Given the description of an element on the screen output the (x, y) to click on. 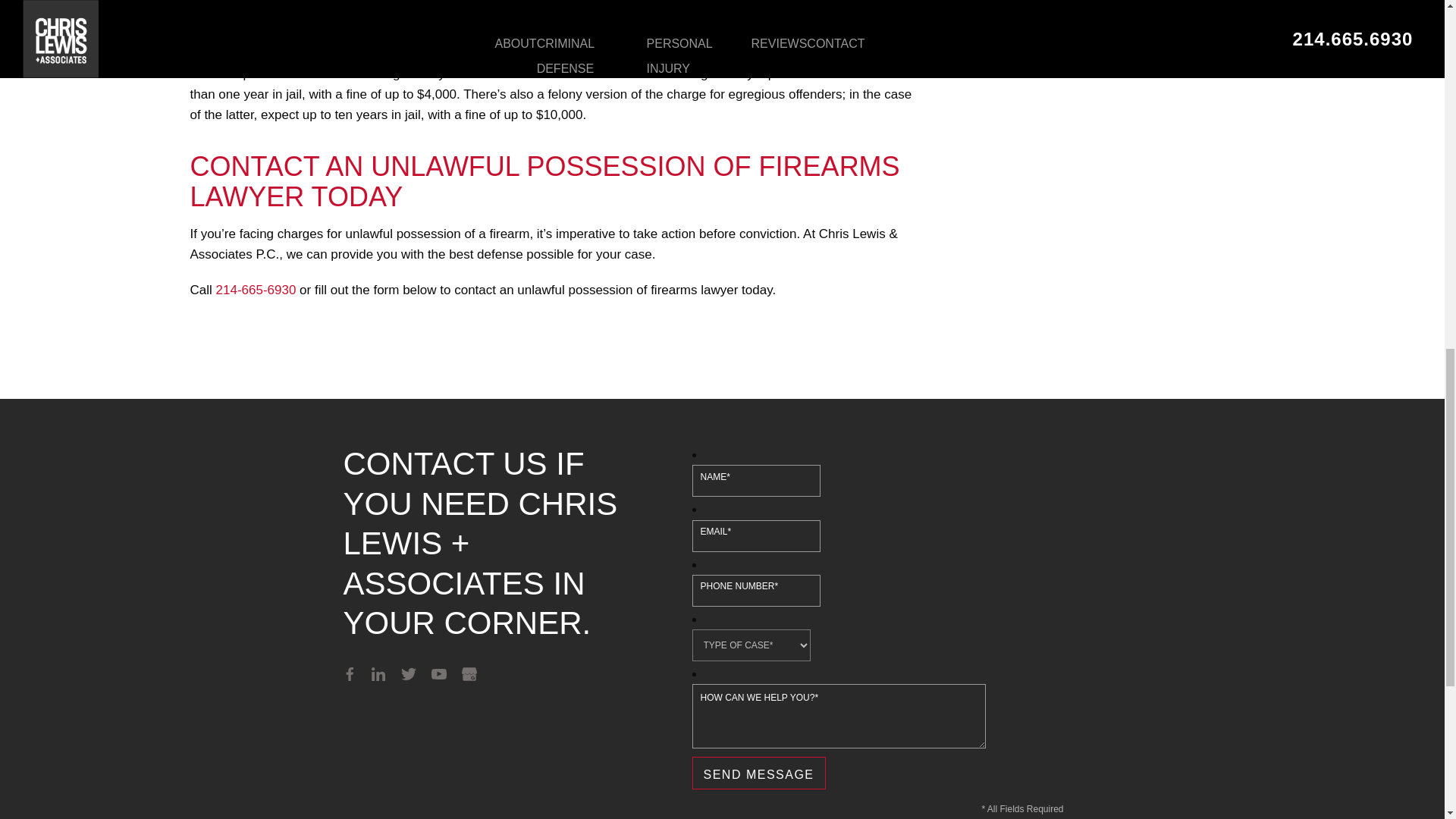
Send Message (758, 772)
